Given the description of an element on the screen output the (x, y) to click on. 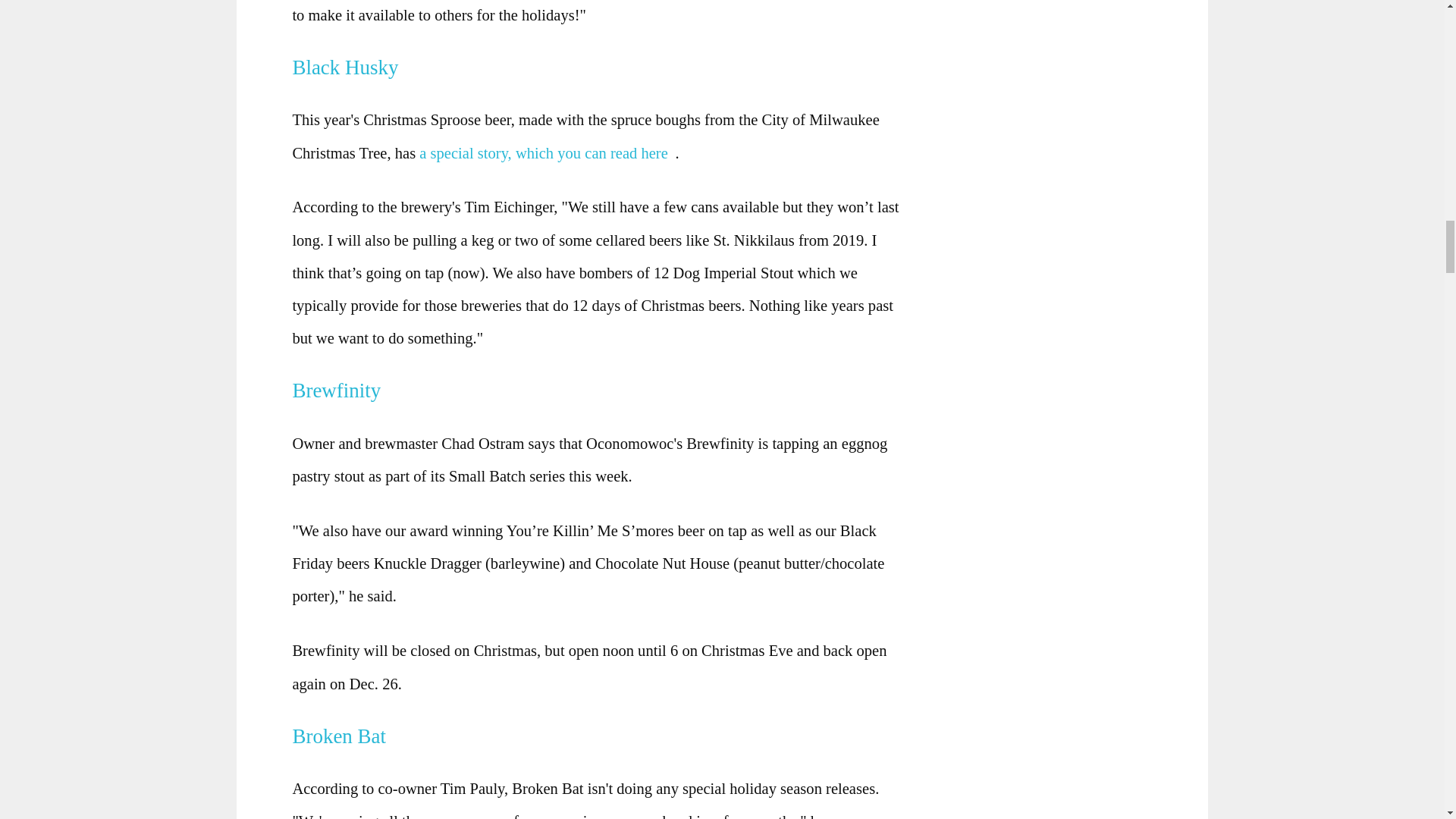
a special story, which you can read here (547, 152)
Black Husky (349, 67)
Brewfinity (341, 390)
Broken Bat (344, 735)
